Given the description of an element on the screen output the (x, y) to click on. 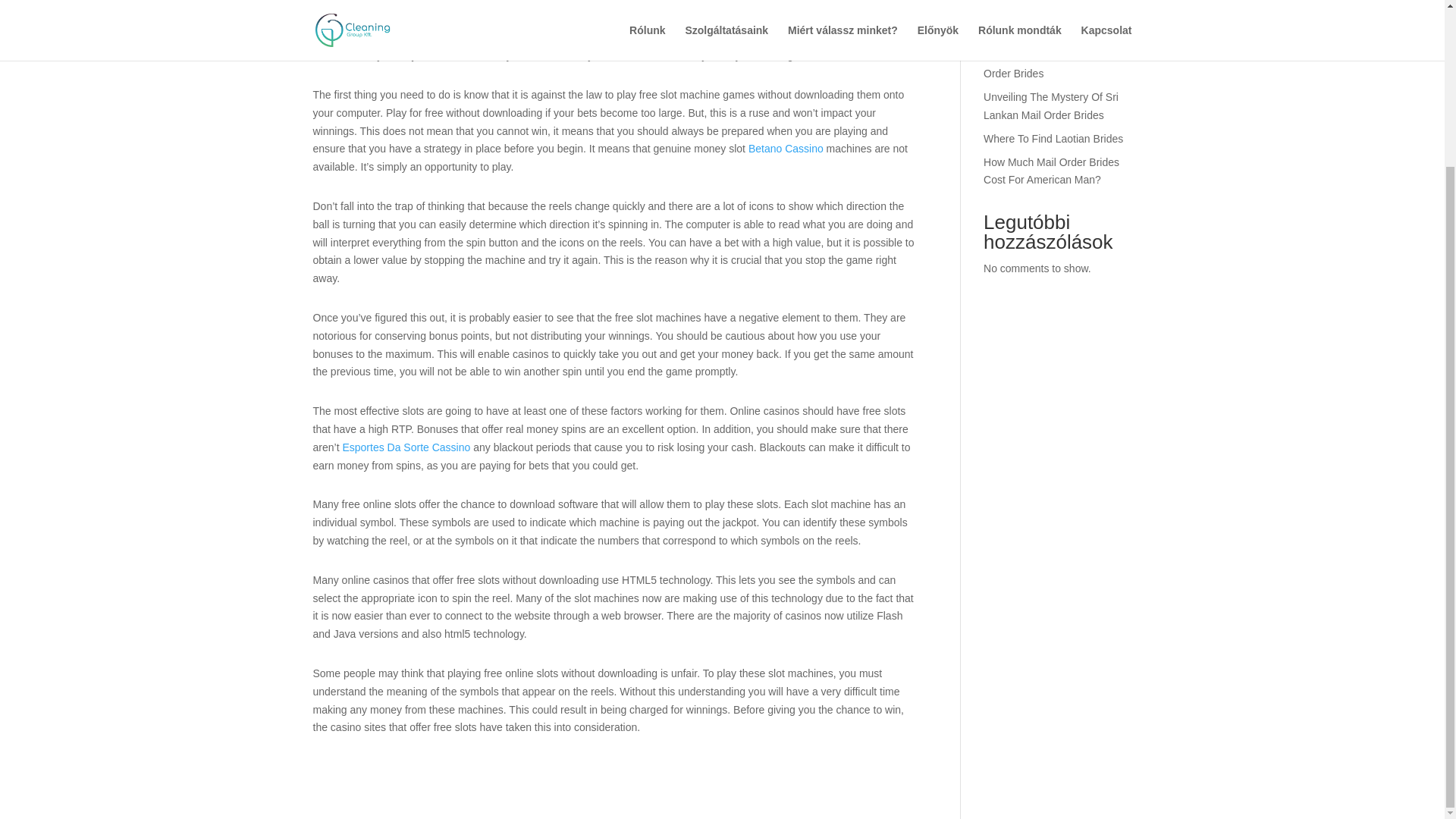
Unveiling The Mysteries Of Honduran Brides (1047, 23)
Betano Cassino (786, 148)
How To Find Jordanian Mail Order Brides (1049, 64)
How Much Mail Order Brides Cost For American Man? (1051, 171)
Esportes Da Sorte Cassino (406, 447)
Where To Find Laotian Brides (1053, 138)
Unveiling The Mystery Of Sri Lankan Mail Order Brides (1051, 105)
